Given the description of an element on the screen output the (x, y) to click on. 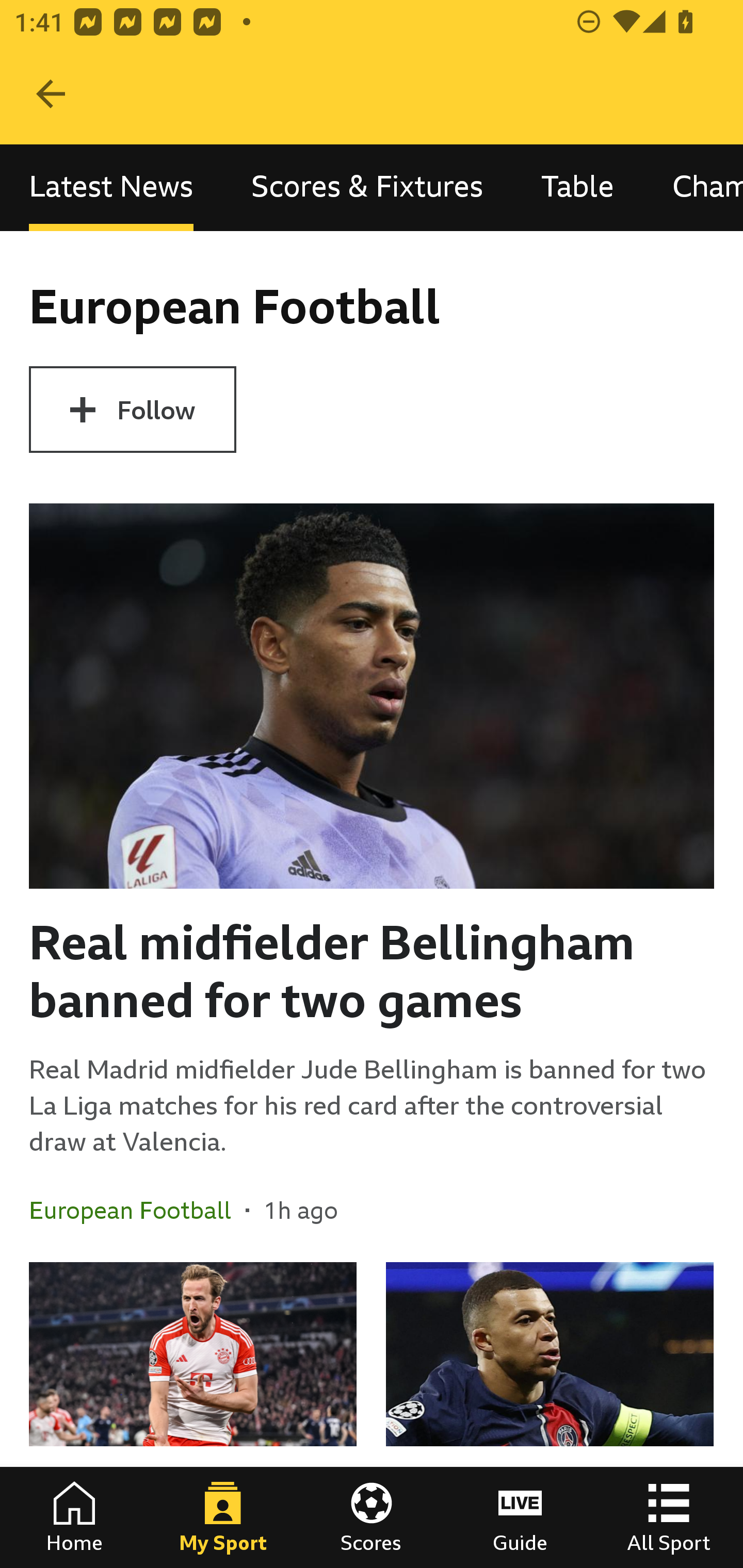
Navigate up (50, 93)
Latest News, selected Latest News (111, 187)
Scores & Fixtures (367, 187)
Table (577, 187)
Champions League (693, 187)
Follow European Football Follow (132, 409)
Kane scores two as stylish Bayern beat Lazio (192, 1415)
Mbappe has 'no problems' with manager Enrique (549, 1415)
Home (74, 1517)
Scores (371, 1517)
Guide (519, 1517)
All Sport (668, 1517)
